Given the description of an element on the screen output the (x, y) to click on. 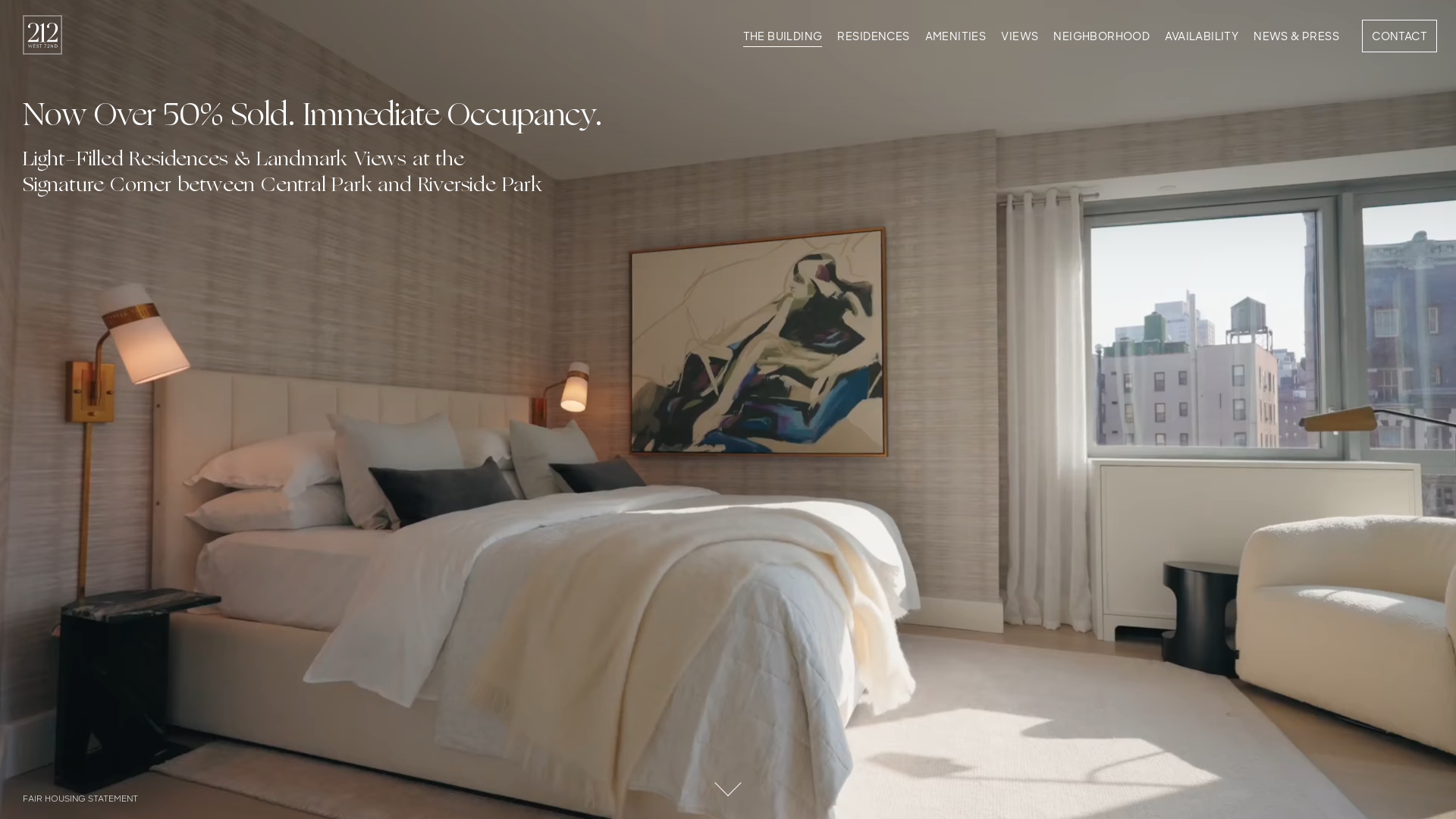
Scroll Down Element type: text (727, 777)
FAIR HOUSING STATEMENT Element type: text (80, 799)
NEWS & PRESS Element type: text (1296, 39)
NEIGHBORHOOD Element type: text (1101, 39)
AVAILABILITY Element type: text (1201, 39)
VIEWS Element type: text (1019, 39)
CONTACT Element type: text (1399, 36)
AMENITIES Element type: text (955, 39)
THE BUILDING
(CURRENT PAGE) Element type: text (782, 39)
RESIDENCES Element type: text (873, 39)
